Given the description of an element on the screen output the (x, y) to click on. 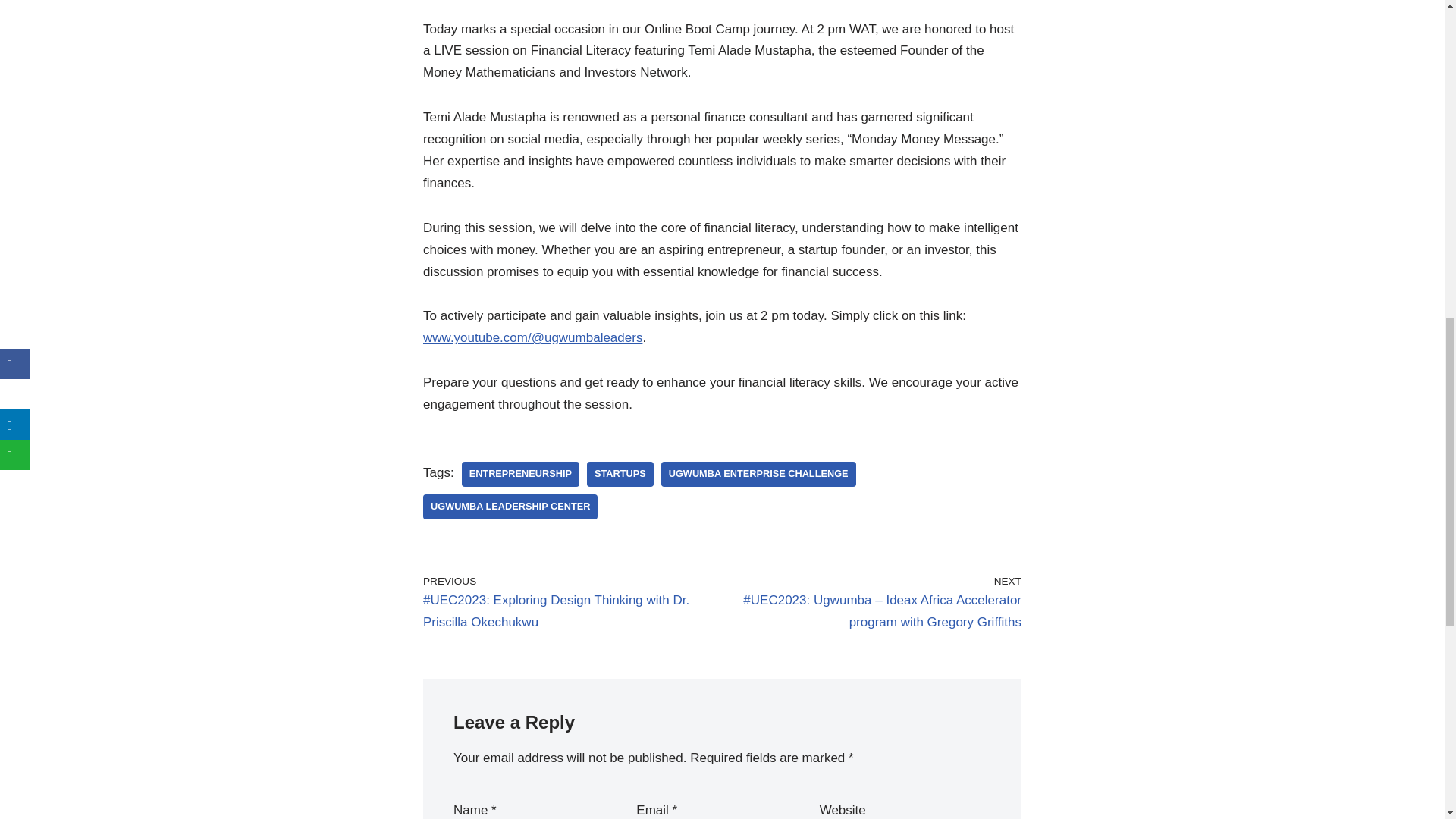
STARTUPS (619, 473)
ENTREPRENEURSHIP (520, 473)
UGWUMBA ENTERPRISE CHALLENGE (758, 473)
startups (619, 473)
Entrepreneurship (520, 473)
Ugwumba Leadership Center (509, 506)
UGWUMBA LEADERSHIP CENTER (509, 506)
Ugwumba Enterprise Challenge (758, 473)
